Given the description of an element on the screen output the (x, y) to click on. 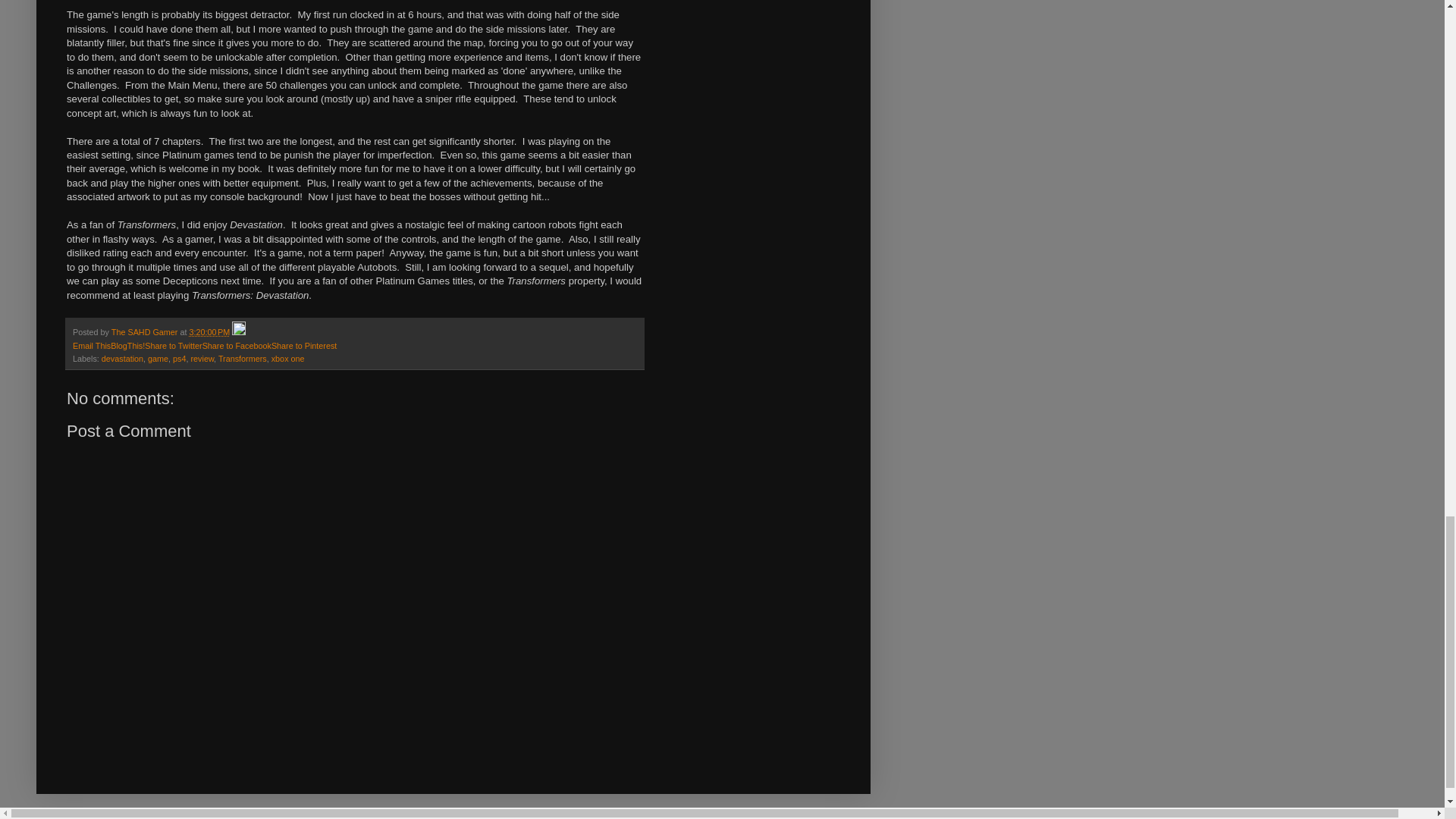
BlogThis! (127, 345)
review (202, 358)
Transformers (242, 358)
xbox one (287, 358)
Edit Post (238, 331)
permanent link (209, 331)
devastation (121, 358)
Share to Pinterest (303, 345)
Share to Facebook (236, 345)
